Given the description of an element on the screen output the (x, y) to click on. 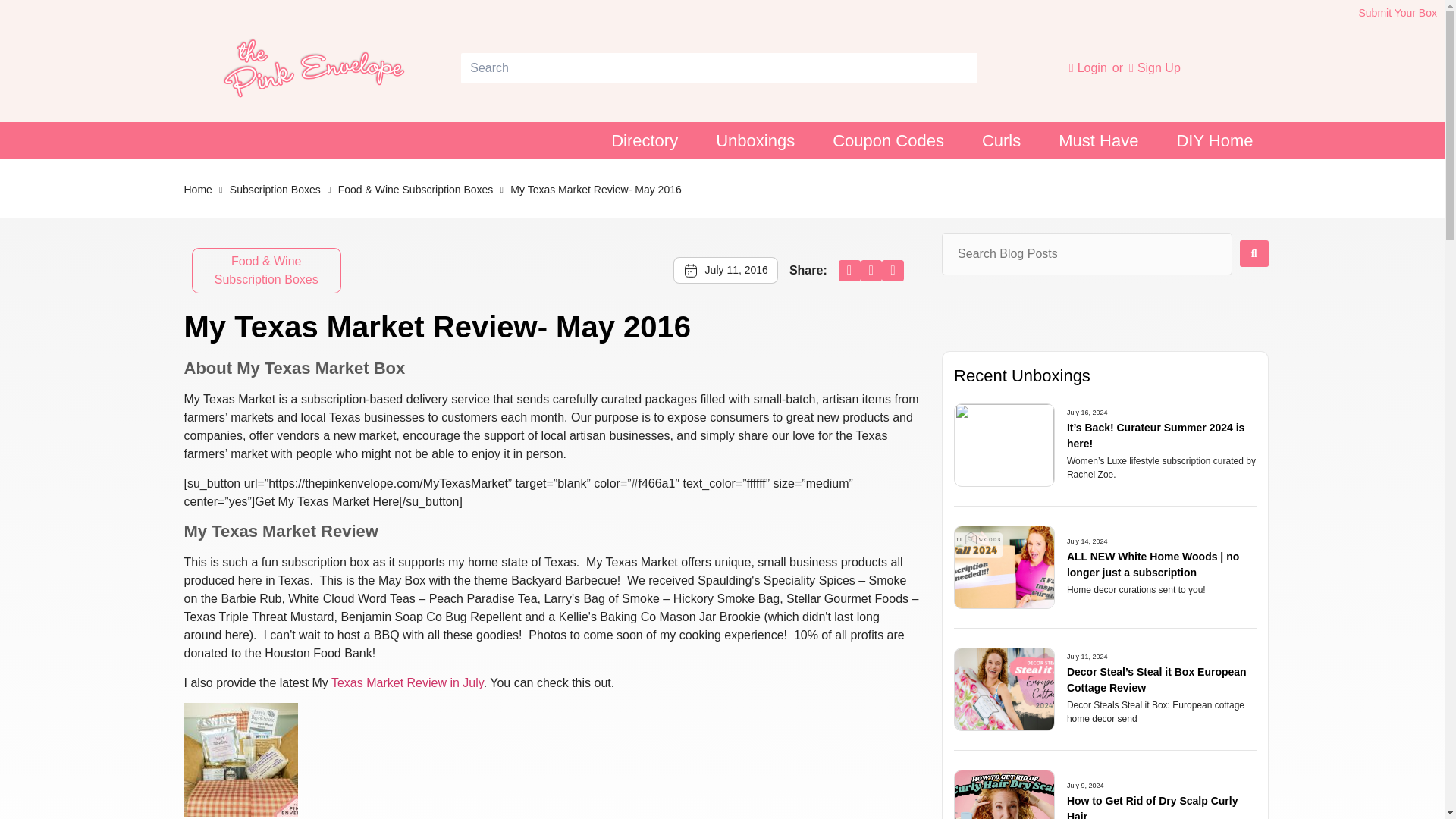
Subscription Boxes (275, 189)
Login (1088, 67)
Subscription Boxes (275, 189)
Coupon Codes (887, 140)
Home (197, 189)
Texas Market Review in July (407, 682)
DIY Home (1214, 140)
Sign Up (1154, 67)
Must Have (1098, 140)
Unboxings (755, 140)
Home (197, 189)
Directory (644, 140)
Submit Your Box (1397, 12)
Curls (1000, 140)
